Given the description of an element on the screen output the (x, y) to click on. 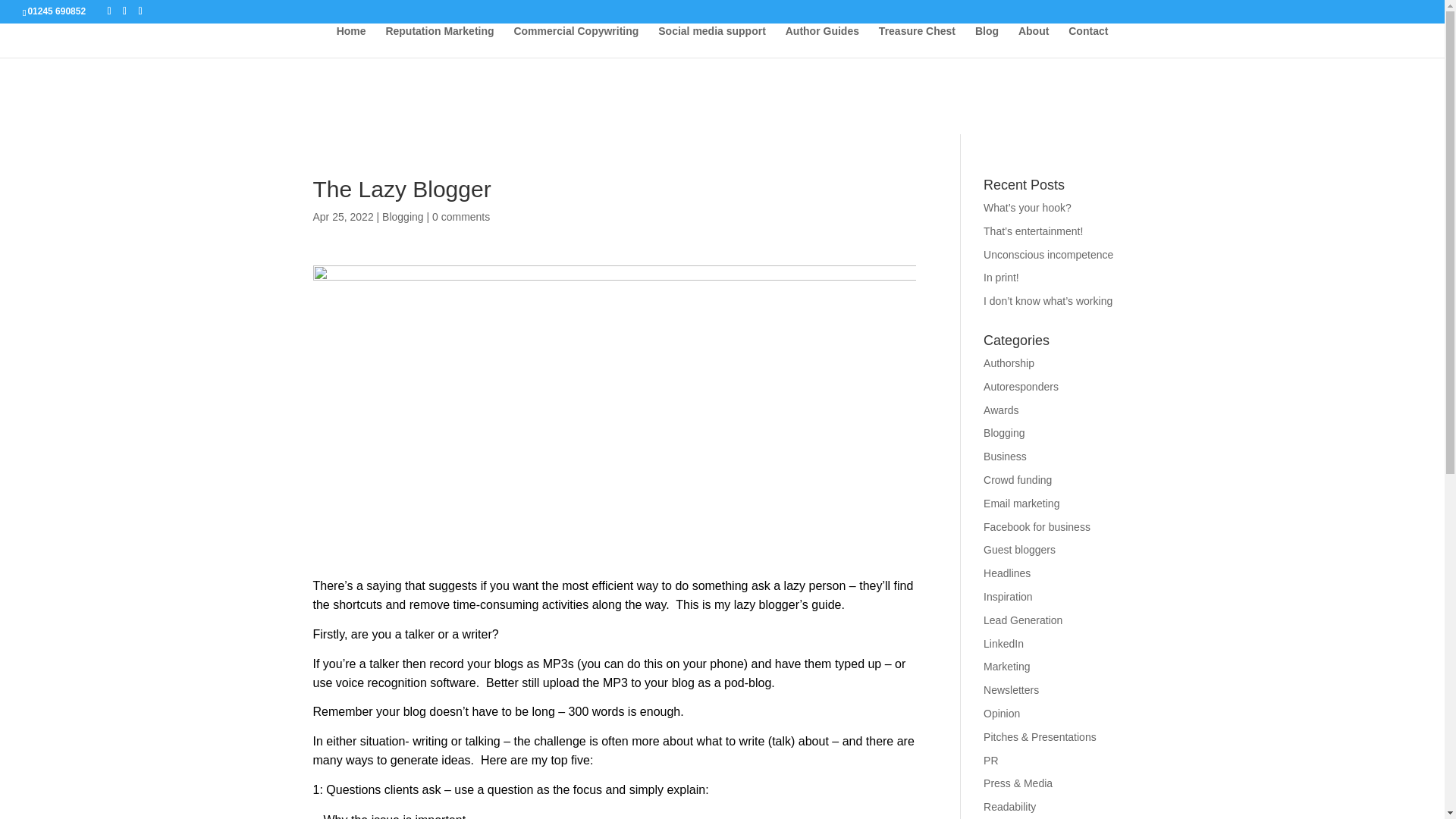
Author Guides (822, 41)
In print! (1001, 277)
Reputation Marketing (439, 41)
Awards (1000, 410)
0 comments (460, 216)
Social media support (711, 41)
Authorship (1008, 363)
Blogging (402, 216)
Unconscious incompetence (1048, 254)
Home (351, 41)
